Given the description of an element on the screen output the (x, y) to click on. 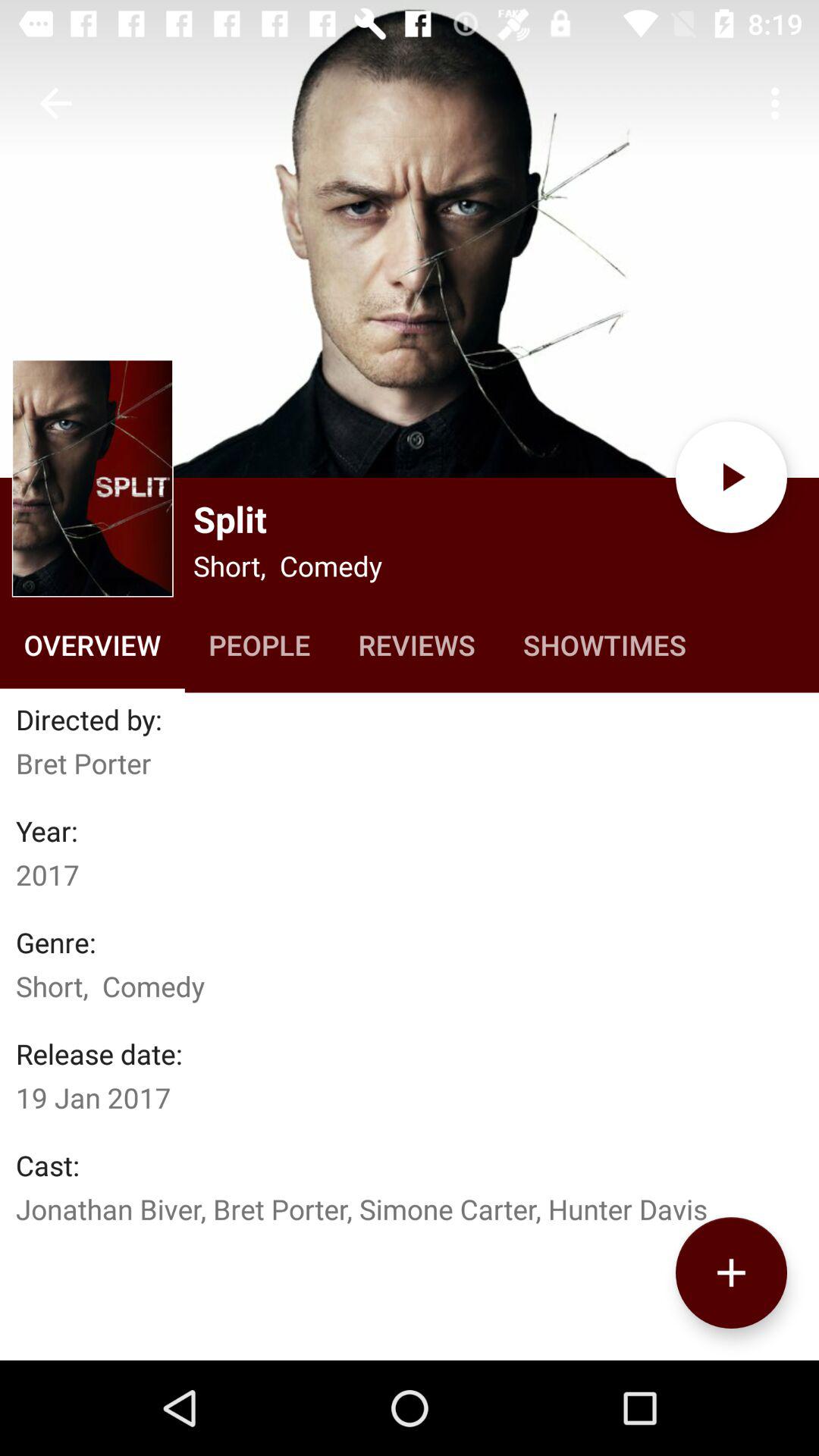
view movie poster (92, 478)
